Given the description of an element on the screen output the (x, y) to click on. 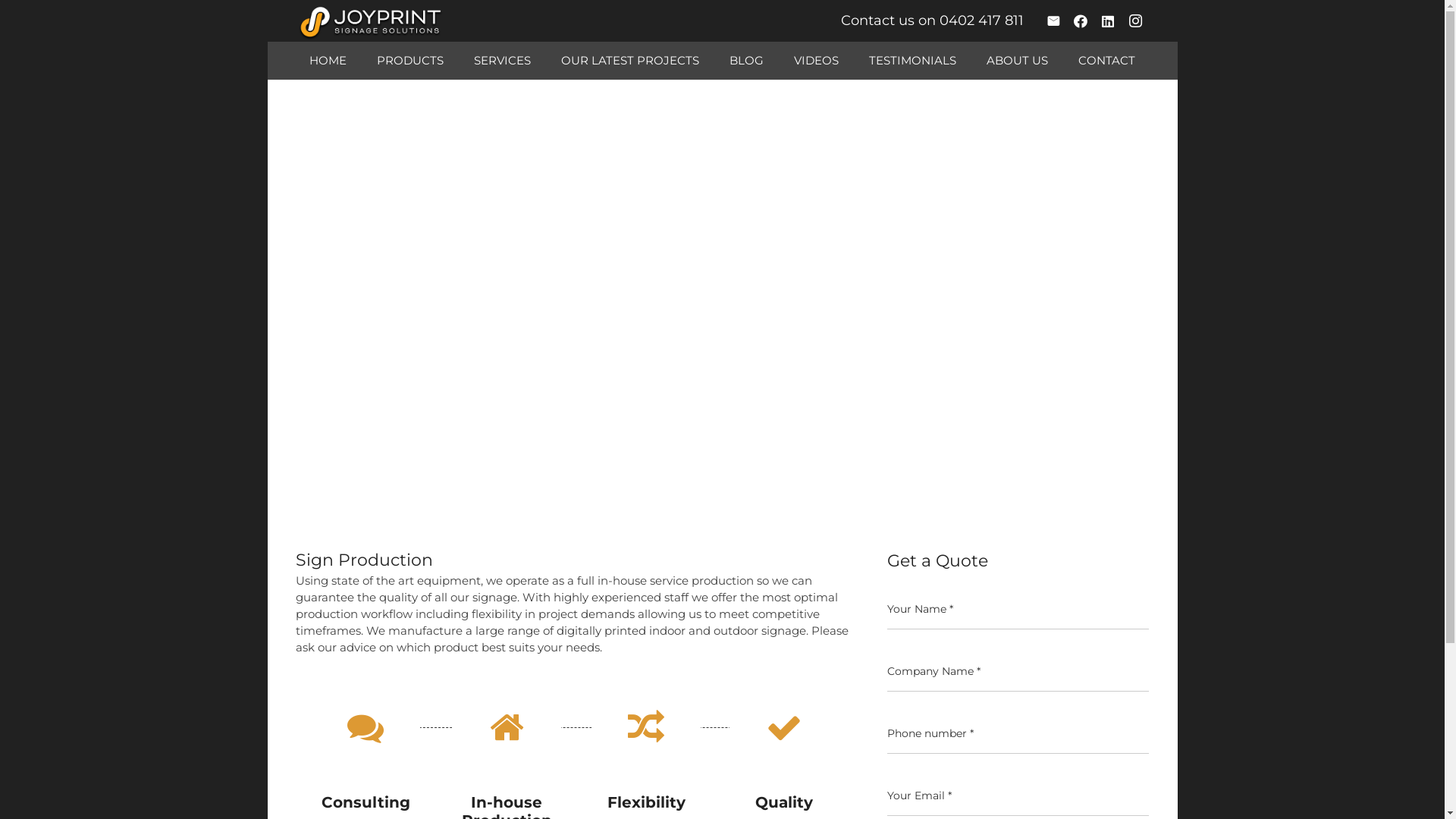
SERVICES Element type: text (502, 60)
Instagram Element type: hover (1134, 20)
HOME Element type: text (327, 60)
ABOUT US Element type: text (1017, 60)
PRODUCTS Element type: text (409, 60)
VIDEOS Element type: text (815, 60)
Email Element type: hover (1052, 20)
CONTACT Element type: text (1106, 60)
OUR LATEST PROJECTS Element type: text (630, 60)
Facebook Element type: hover (1080, 20)
LinkedIn Element type: hover (1107, 20)
TESTIMONIALS Element type: text (912, 60)
BLOG Element type: text (746, 60)
